Given the description of an element on the screen output the (x, y) to click on. 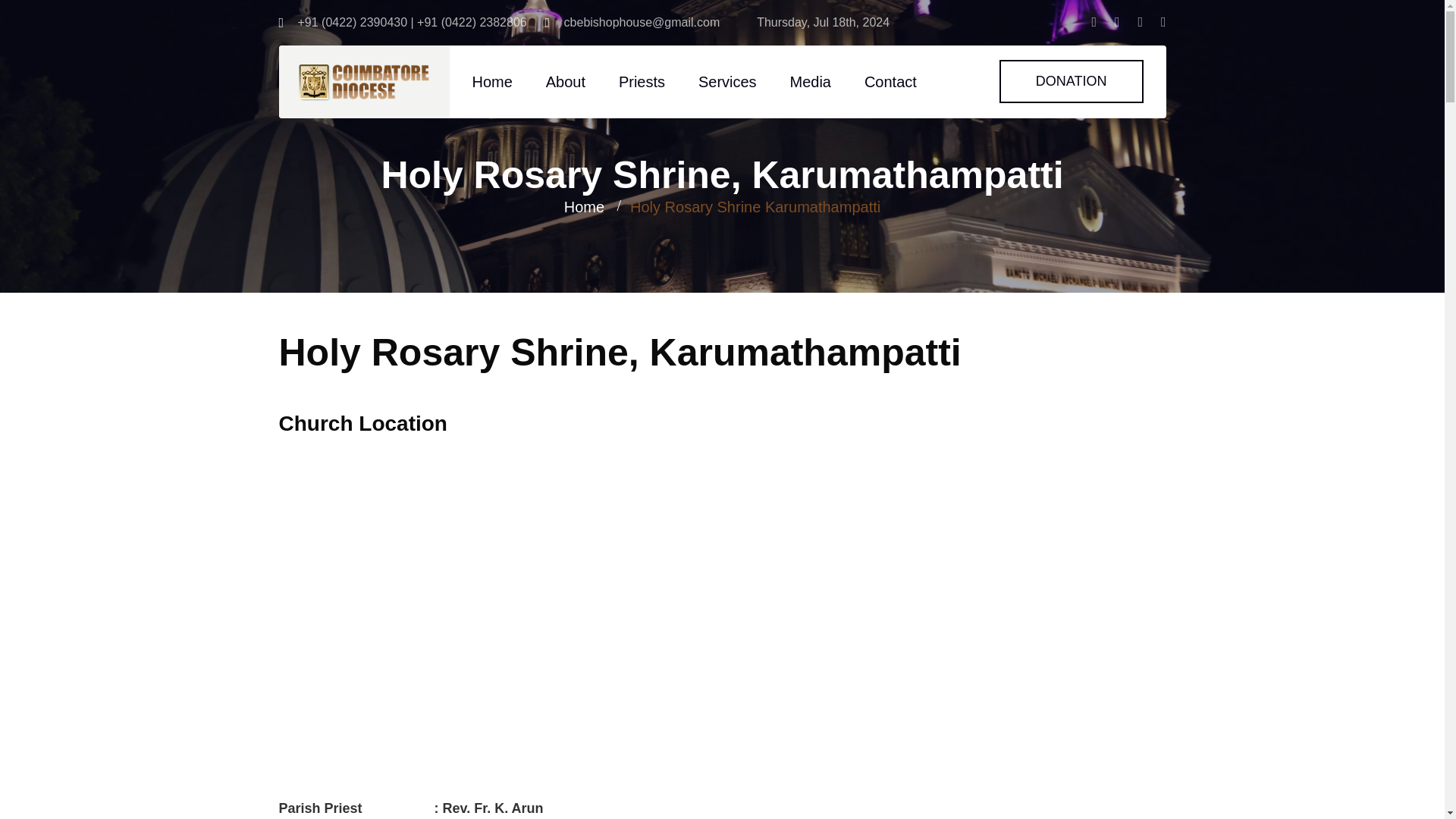
Thursday, Jul 18th, 2024 (813, 21)
